Given the description of an element on the screen output the (x, y) to click on. 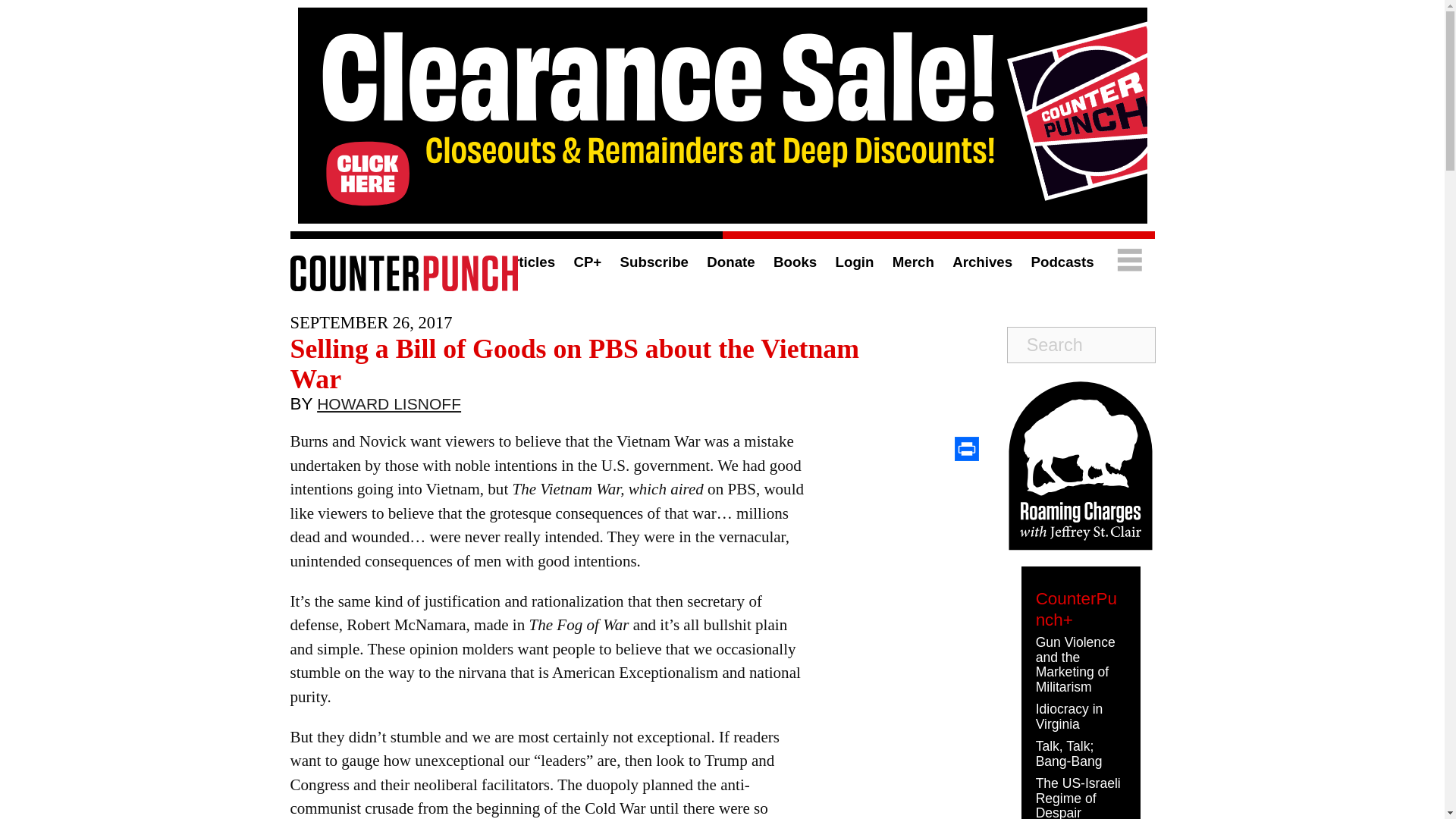
Idiocracy in Virginia (1069, 716)
Gun Violence and the Marketing of Militarism (1075, 664)
Books (794, 261)
2017-09-26 (370, 322)
Subscribe (654, 261)
Articles (528, 261)
Podcasts (1061, 261)
Selling a Bill of Goods on PBS about the Vietnam War (574, 363)
Merch (913, 261)
Print This Post (966, 448)
Donate (730, 261)
HOWARD LISNOFF (389, 407)
Login (855, 261)
Archives (981, 261)
